Given the description of an element on the screen output the (x, y) to click on. 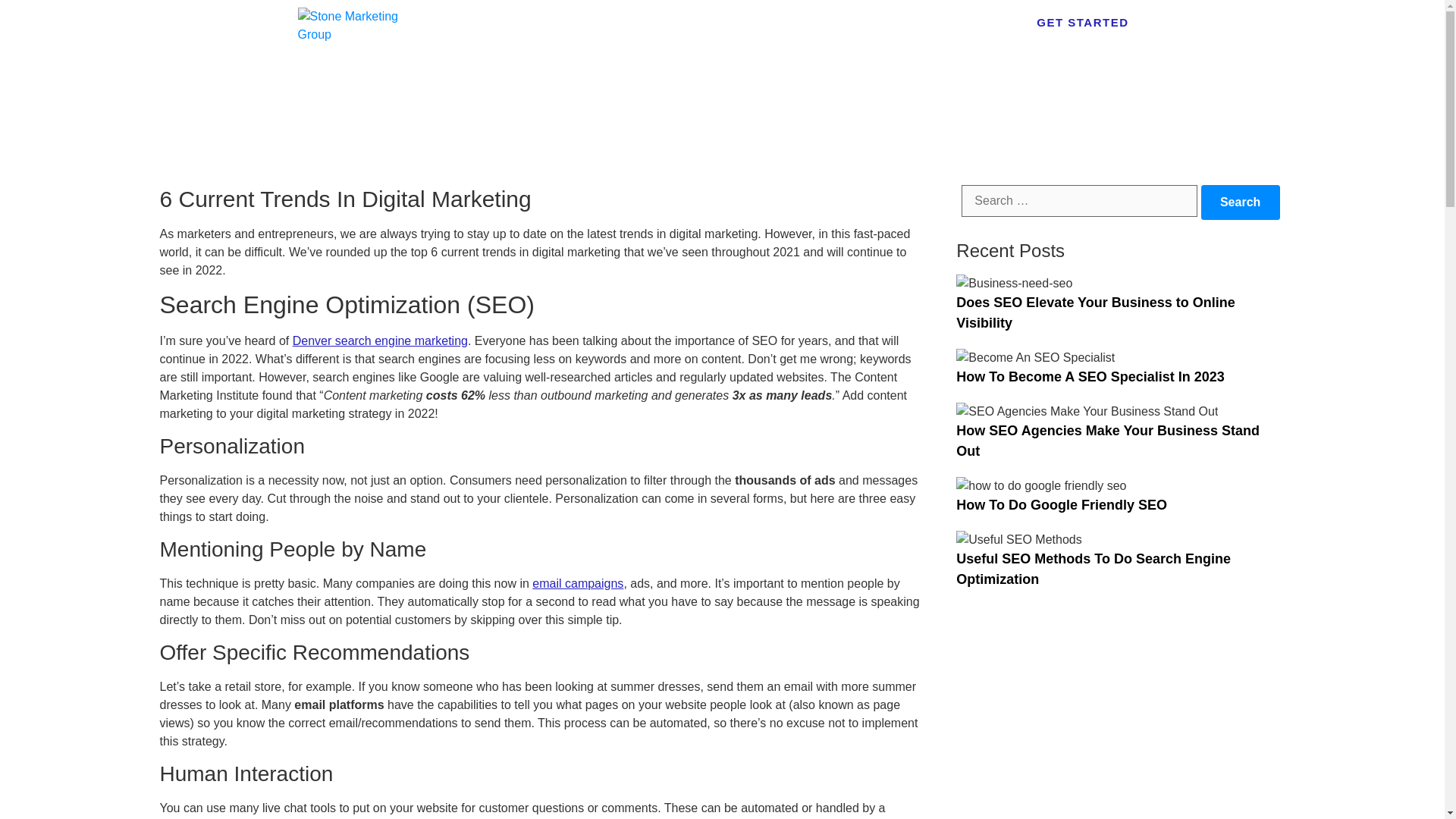
GET STARTED (1082, 21)
About Us (877, 89)
How To Do Google Friendly SEO (1061, 504)
Does SEO Elevate Your Business to Online Visibility (1095, 312)
Look Useful SEO Methods To Do Search Engine Optimization (1093, 569)
Look Does SEO Elevate Your Business to Online Visibility (1095, 312)
Contact Us (1102, 89)
Search (1240, 202)
Look How SEO Agencies Make Your Business Stand Out (1107, 440)
How To Become A SEO Specialist In 2023 (1090, 376)
Look How To Become A SEO Specialist In 2023 (1090, 376)
email campaigns (577, 583)
How SEO Agencies Make Your Business Stand Out (1107, 440)
Services (960, 89)
Denver search engine marketing (379, 340)
